Given the description of an element on the screen output the (x, y) to click on. 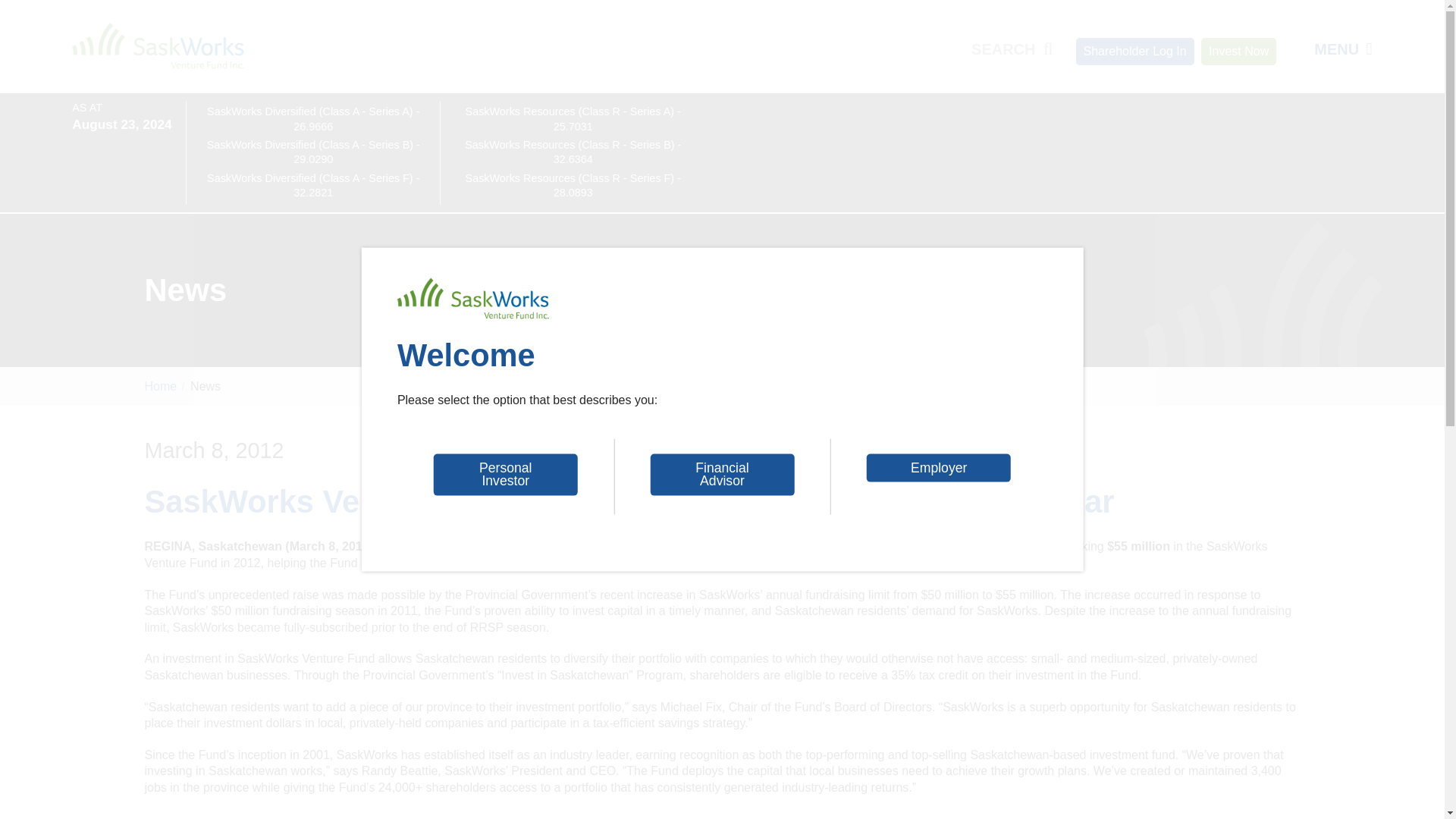
MENU (1343, 49)
Home (157, 45)
Invest Now (1238, 51)
Shareholder Log In (1134, 51)
SEARCH (1011, 49)
